Given the description of an element on the screen output the (x, y) to click on. 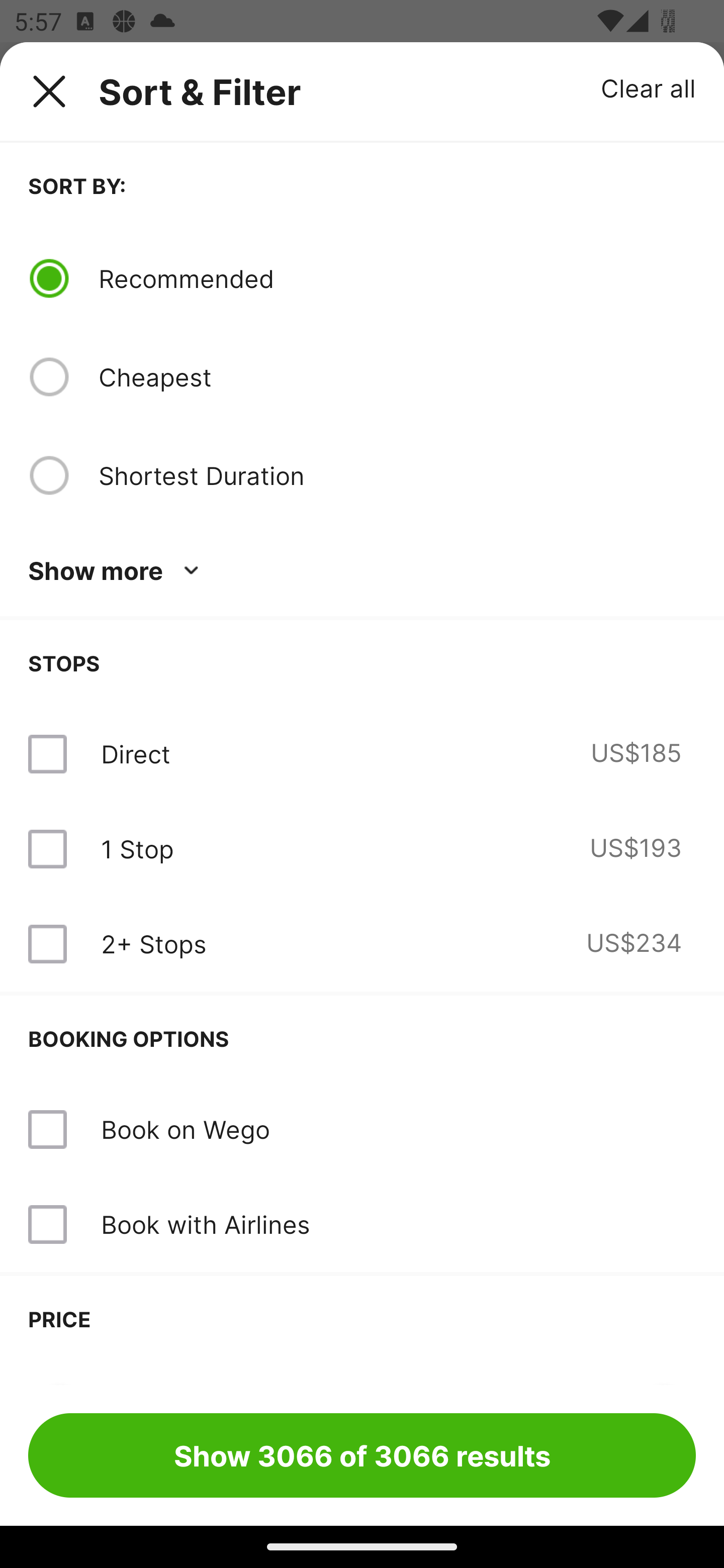
Clear all (648, 87)
Recommended  (396, 278)
Cheapest (396, 377)
Shortest Duration (396, 474)
Show more (116, 570)
Direct US$185 (362, 754)
Direct (135, 753)
1 Stop US$193 (362, 848)
1 Stop (136, 849)
2+ Stops US$234 (362, 943)
2+ Stops (153, 943)
Book on Wego (362, 1129)
Book on Wego (184, 1128)
Book with Airlines (362, 1224)
Book with Airlines (204, 1224)
Show 3066 of 3066 results (361, 1454)
